Given the description of an element on the screen output the (x, y) to click on. 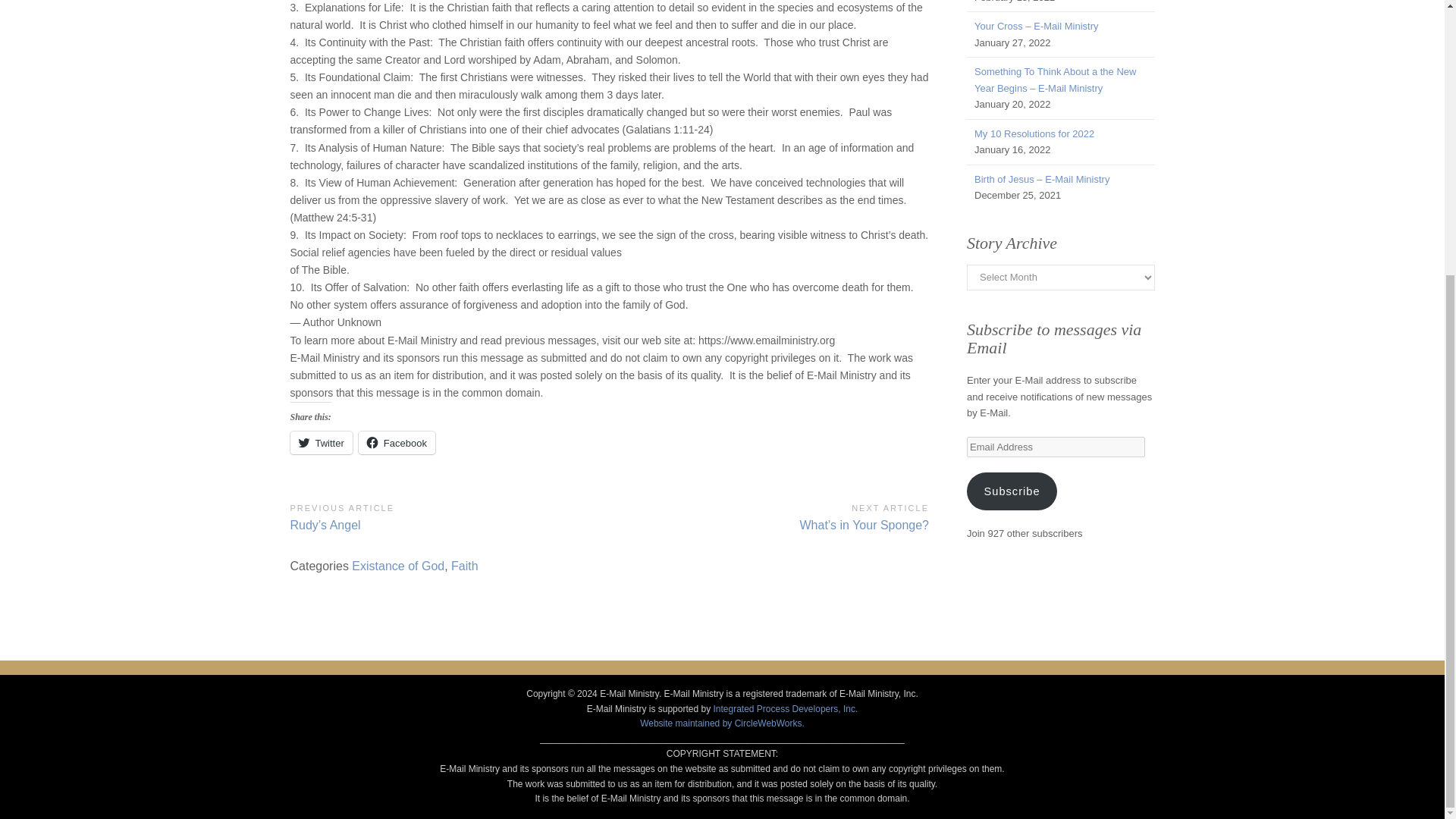
Twitter (320, 442)
Website maintained by CircleWebWorks. (722, 723)
Click to share on Facebook (396, 442)
Facebook (396, 442)
Subscribe (1011, 491)
My 10 Resolutions for 2022 (1034, 133)
Integrated Process Developers, Inc. (785, 708)
Click to share on Twitter (320, 442)
Existance of God (398, 565)
Faith (465, 565)
